Given the description of an element on the screen output the (x, y) to click on. 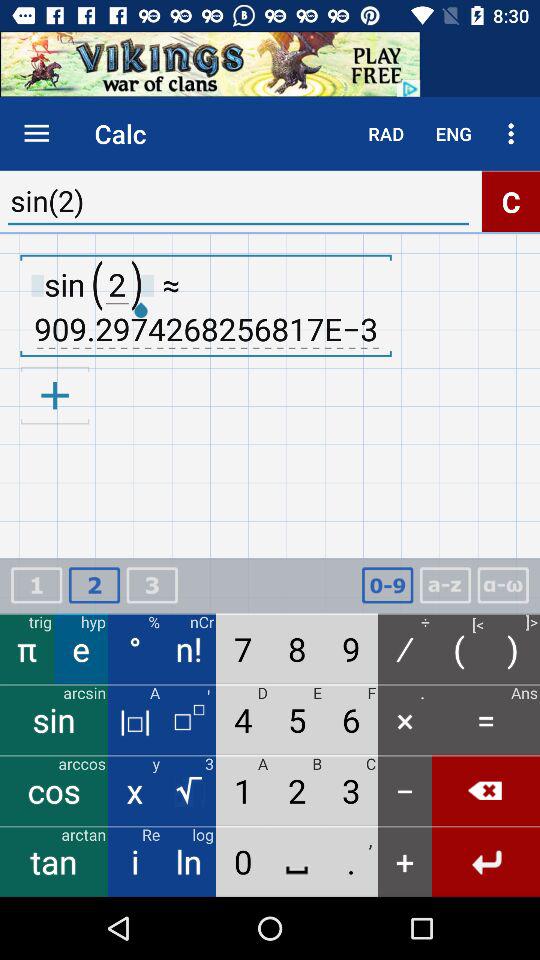
time (387, 585)
